Given the description of an element on the screen output the (x, y) to click on. 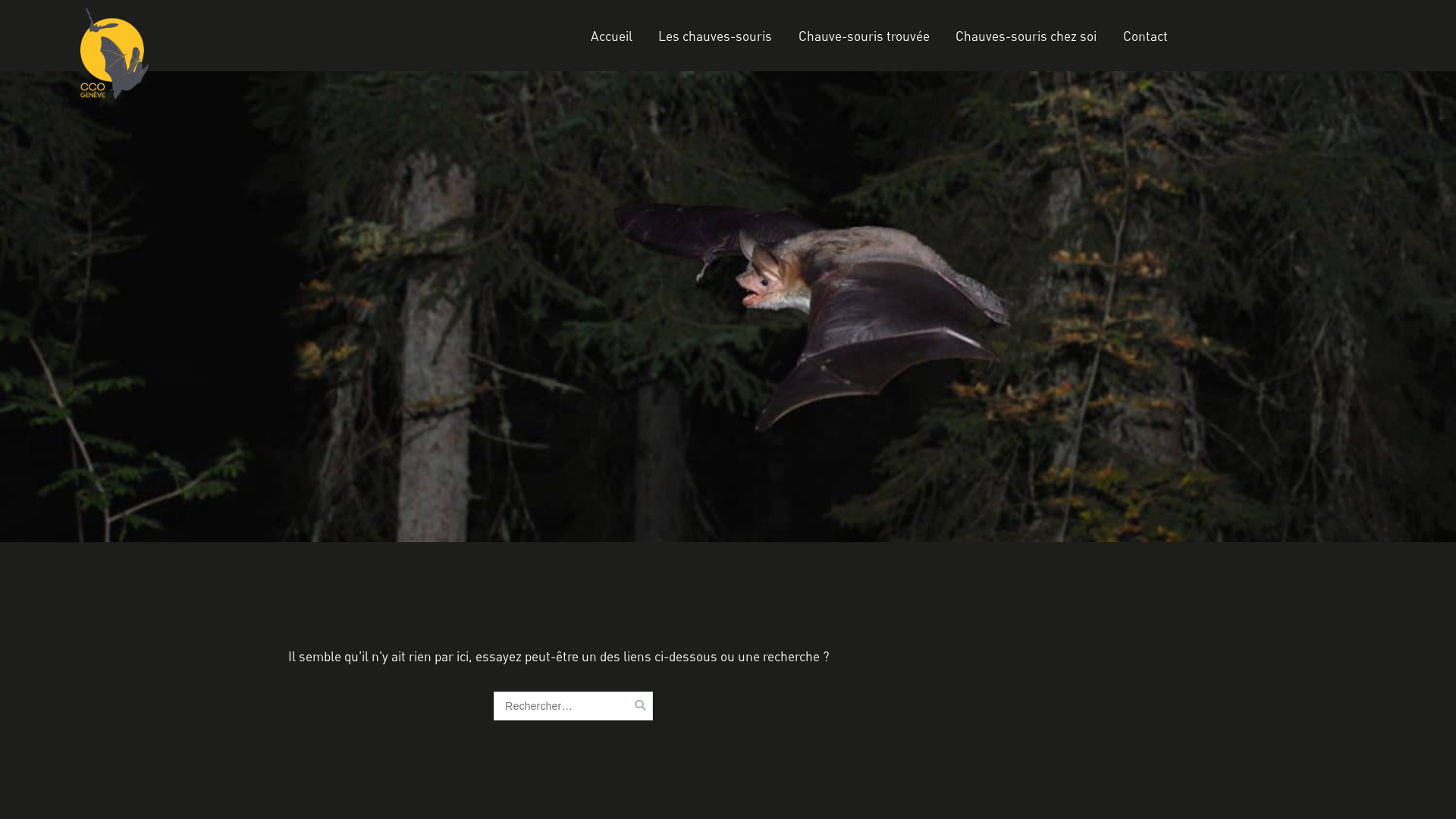
Chauves-souris chez soi Element type: text (1025, 35)
Rechercher Element type: text (39, 13)
Contact Element type: text (1145, 35)
Accueil Element type: text (611, 35)
Les chauves-souris Element type: text (714, 35)
